Given the description of an element on the screen output the (x, y) to click on. 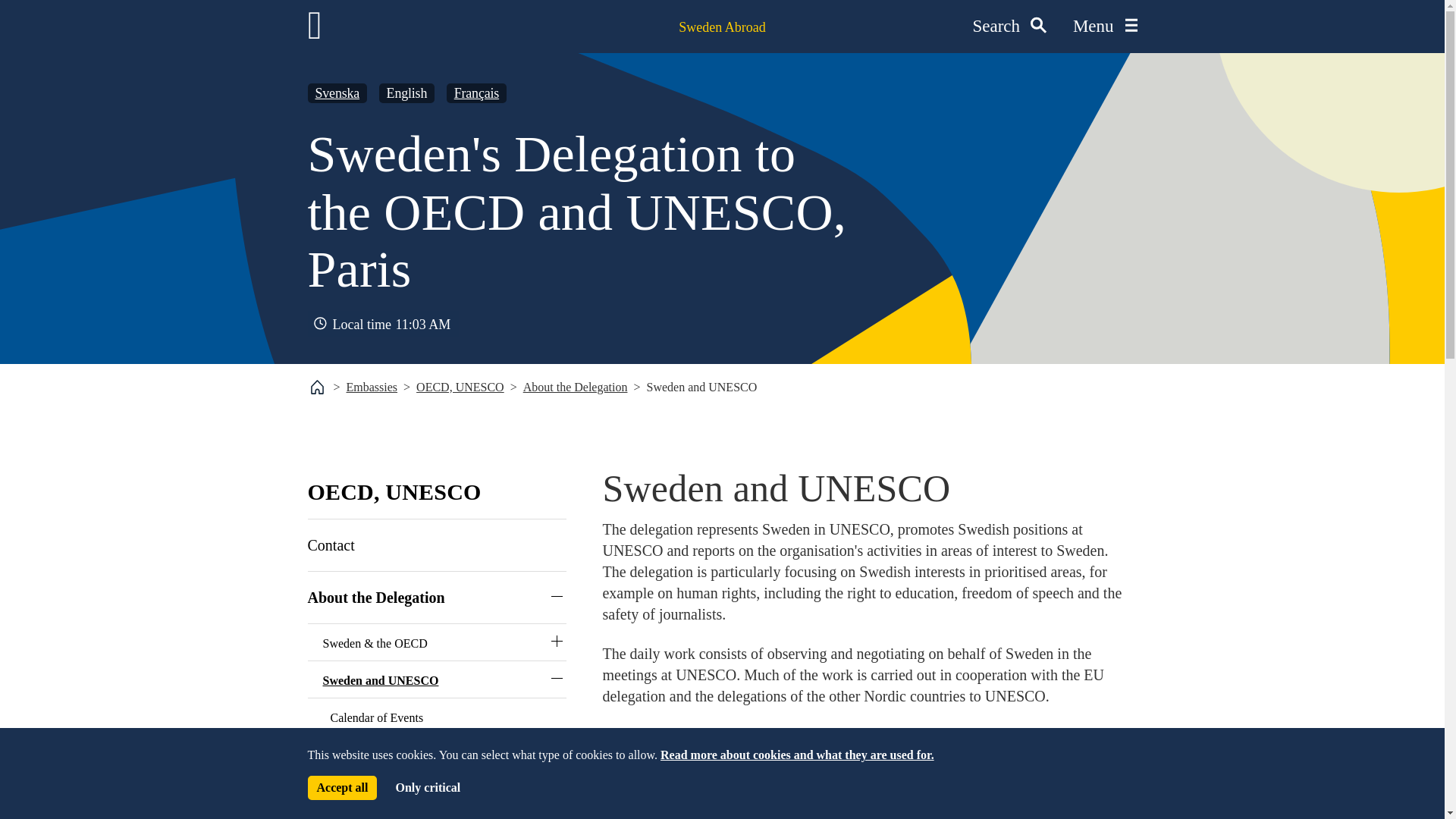
Sweden Abroad (721, 27)
OECD, UNESCO (615, 211)
Accept all (394, 491)
Contact (342, 787)
Only critical (331, 545)
Search (427, 787)
Svenska (1008, 26)
Menu (337, 93)
About the Delegation (1105, 26)
OECD, UNESCO (574, 386)
Embassies (459, 386)
Read more about cookies and what they are used for. (371, 386)
